Given the description of an element on the screen output the (x, y) to click on. 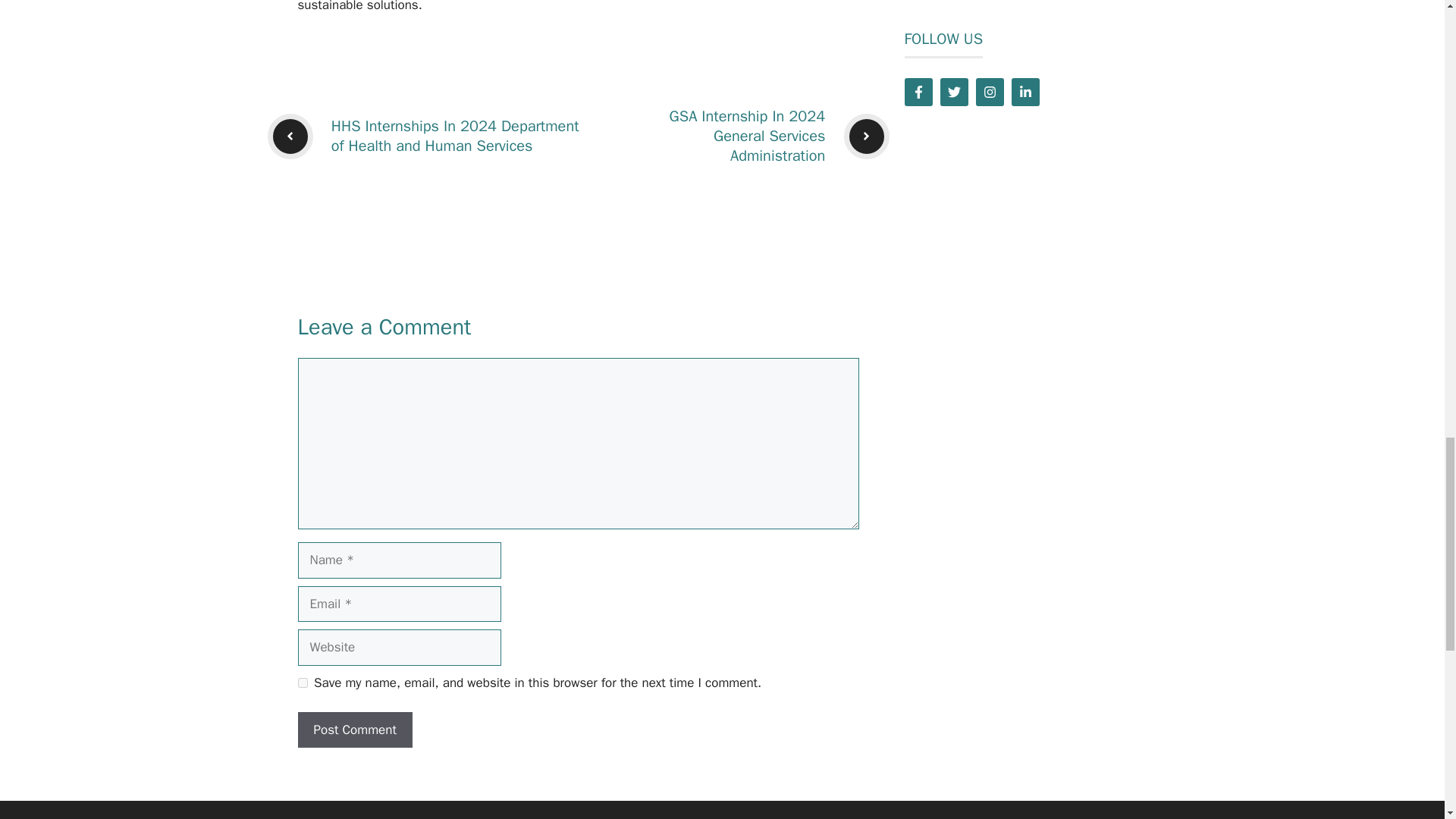
GSA Internship In 2024 General Services Administration (747, 136)
Post Comment (354, 729)
yes (302, 682)
Post Comment (354, 729)
